Given the description of an element on the screen output the (x, y) to click on. 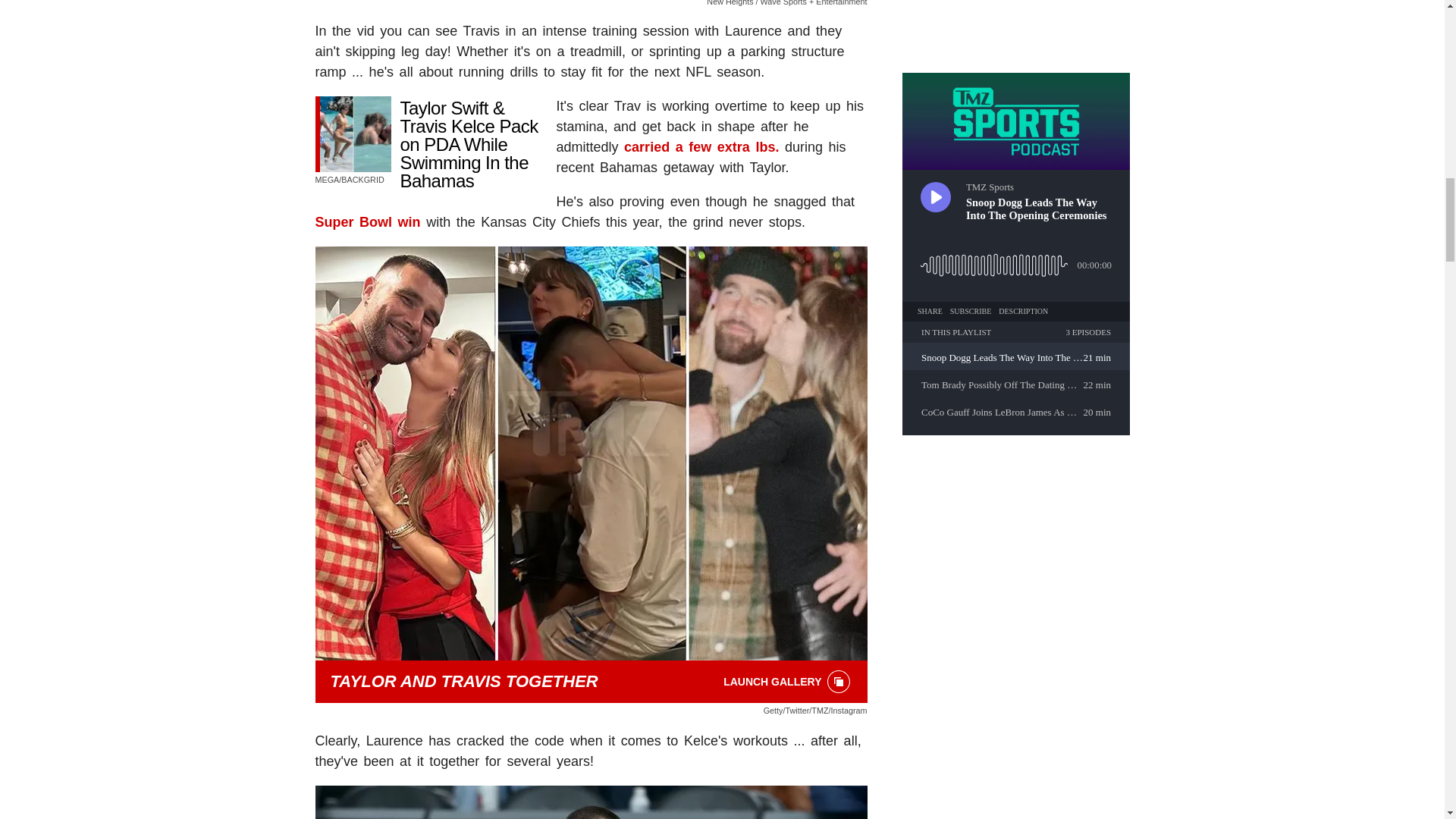
GALLERY (838, 681)
